Given the description of an element on the screen output the (x, y) to click on. 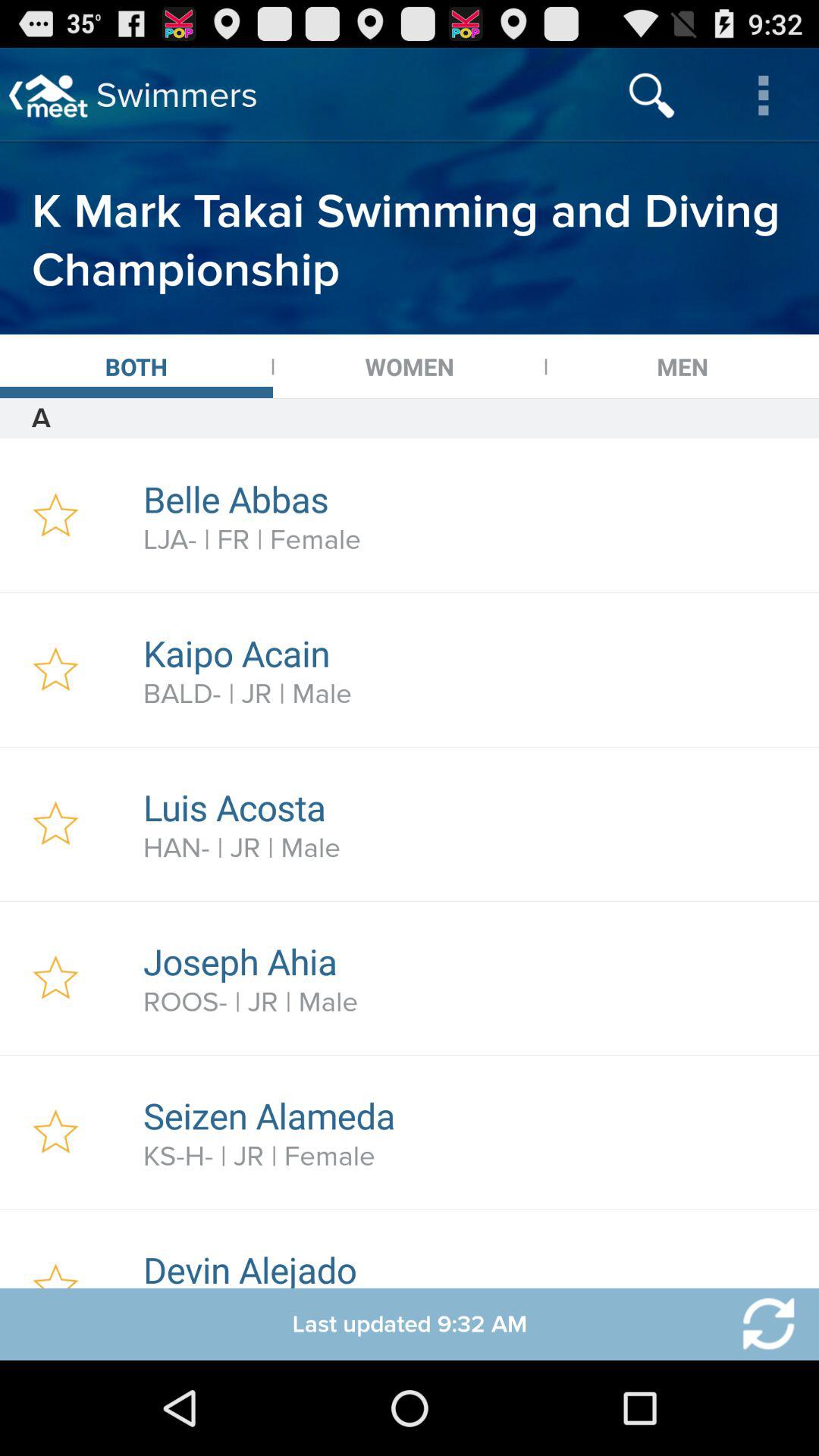
click to favorites option (55, 1248)
